Given the description of an element on the screen output the (x, y) to click on. 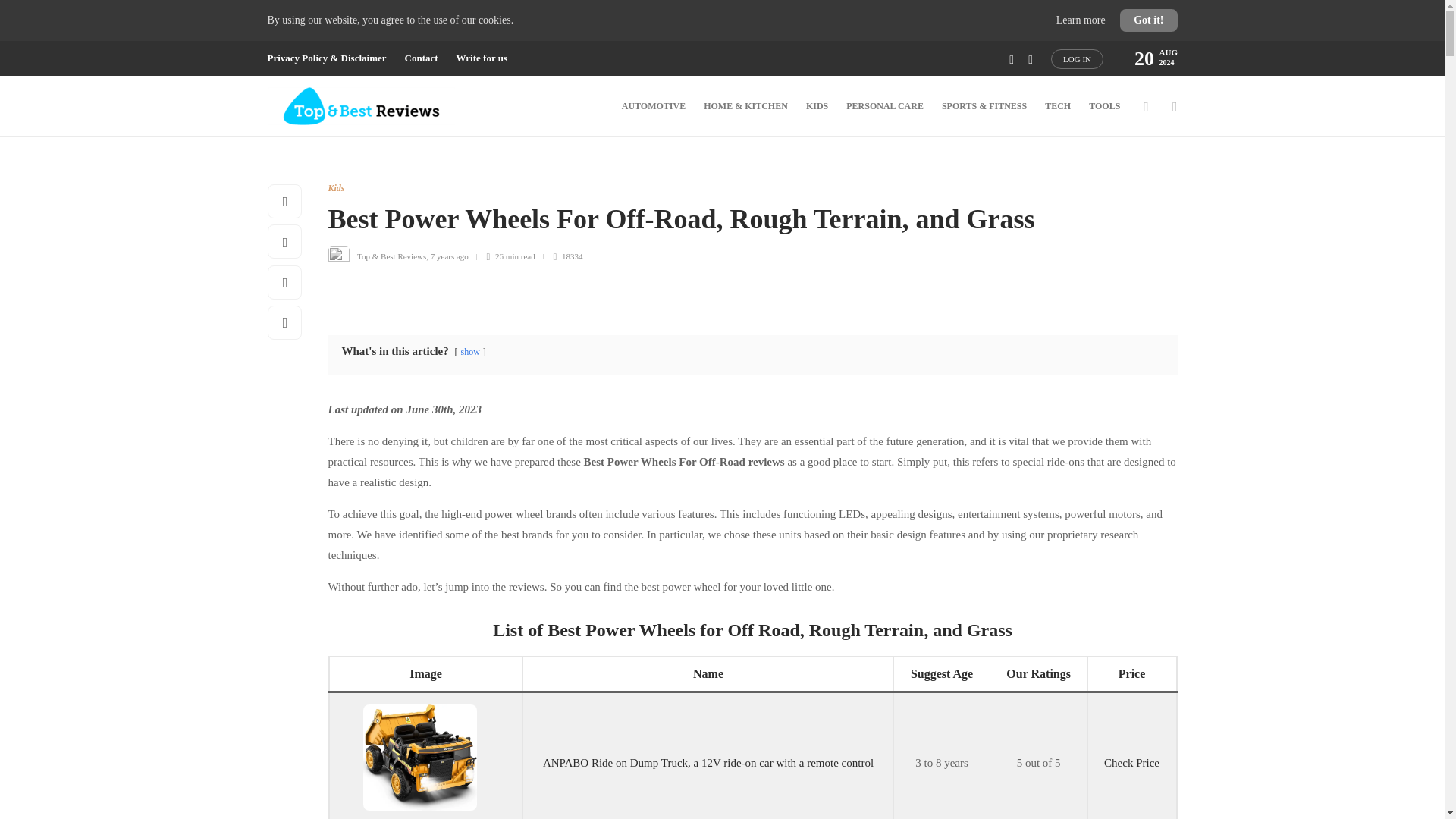
Got it! (1147, 20)
Learn more (1082, 19)
Write for us (481, 58)
Kids (335, 187)
AUTOMOTIVE (653, 105)
Contact (421, 58)
PERSONAL CARE (884, 105)
LOG IN (1077, 58)
